Given the description of an element on the screen output the (x, y) to click on. 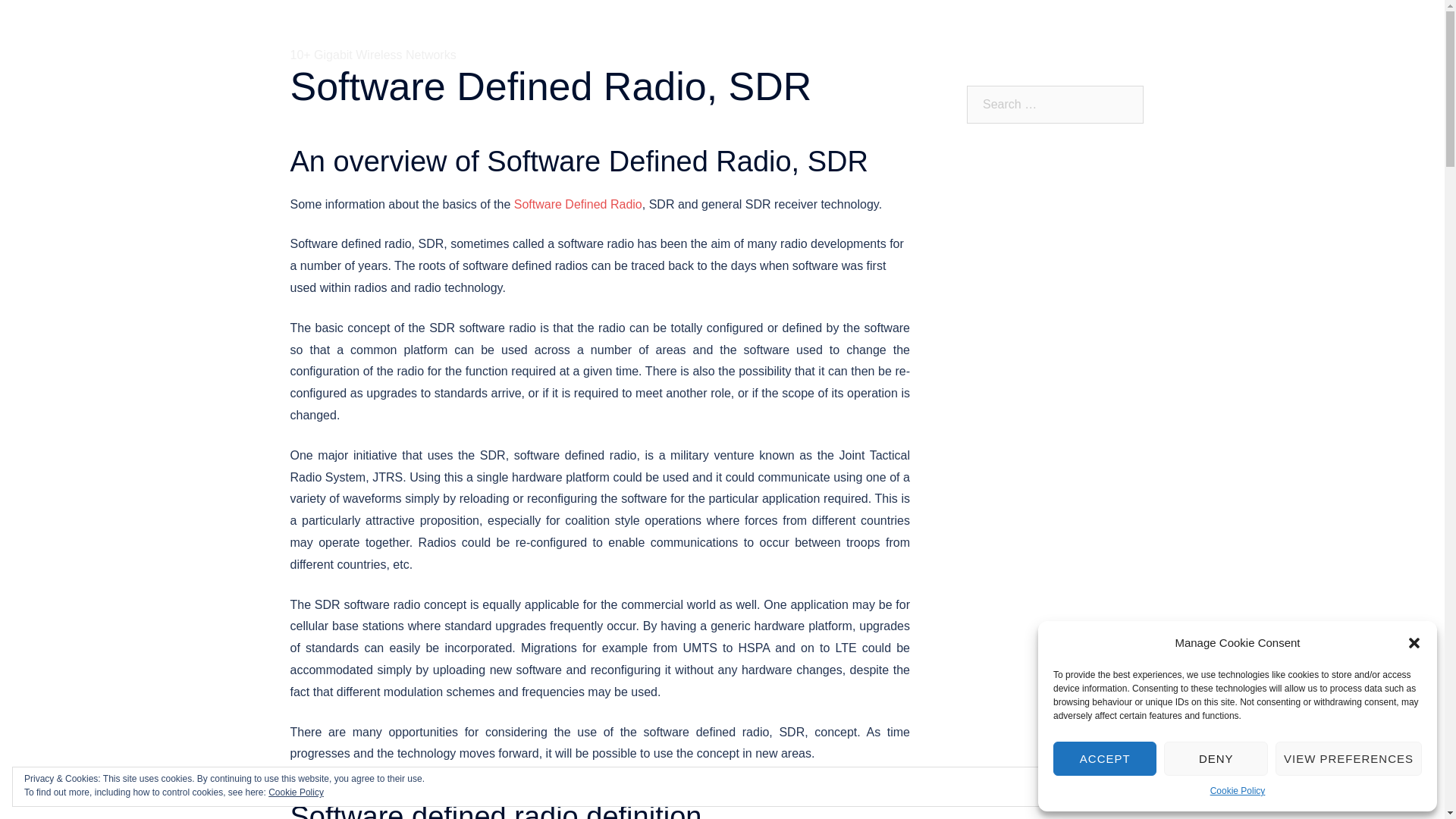
DENY (1214, 758)
Cookie Policy (1237, 791)
Home (671, 37)
CableFree (348, 29)
Products (777, 37)
Close and accept (1369, 786)
About (721, 37)
VIEW PREFERENCES (1348, 758)
ACCEPT (1104, 758)
